Given the description of an element on the screen output the (x, y) to click on. 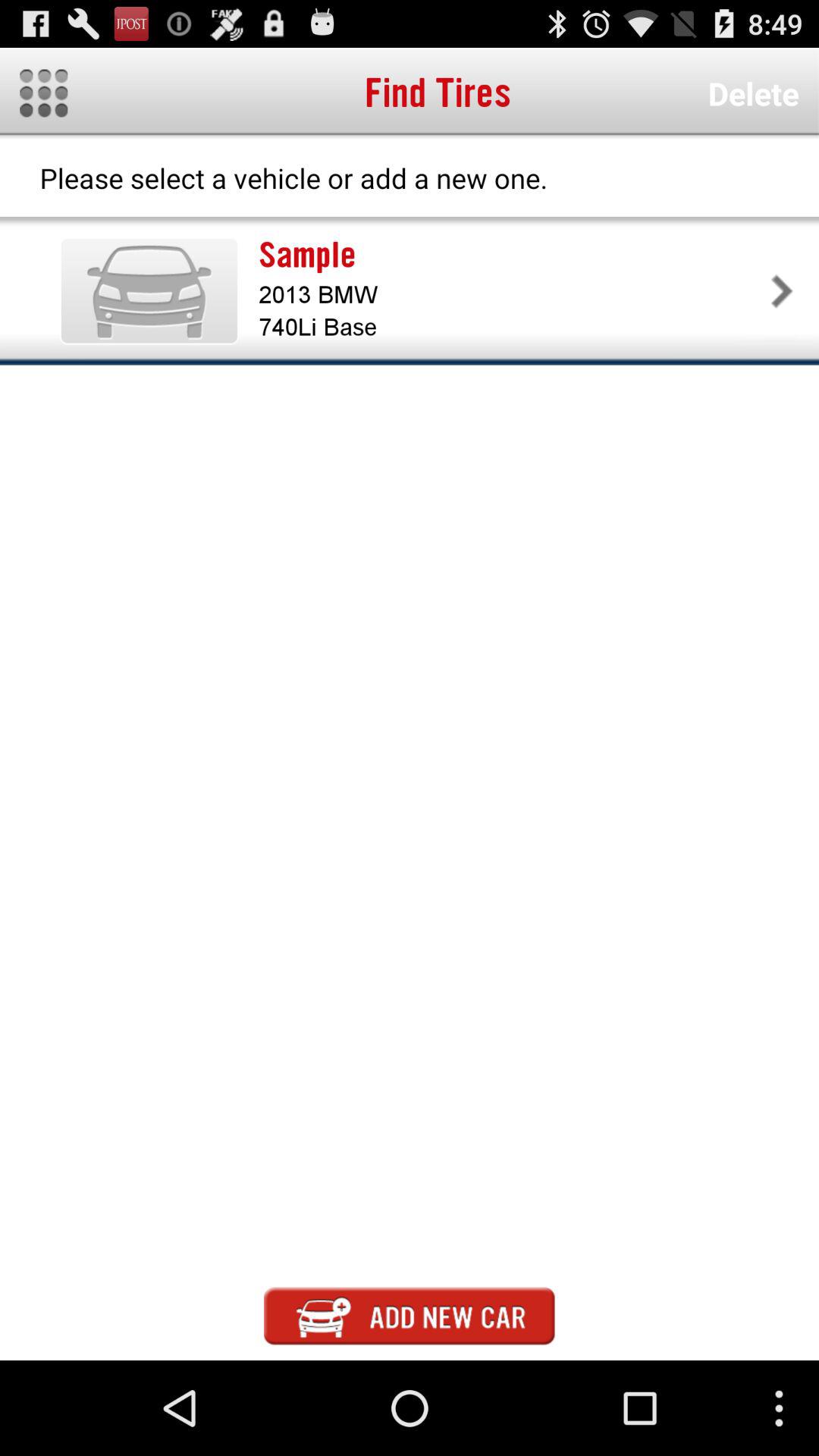
turn on app to the right of the sample icon (781, 290)
